Given the description of an element on the screen output the (x, y) to click on. 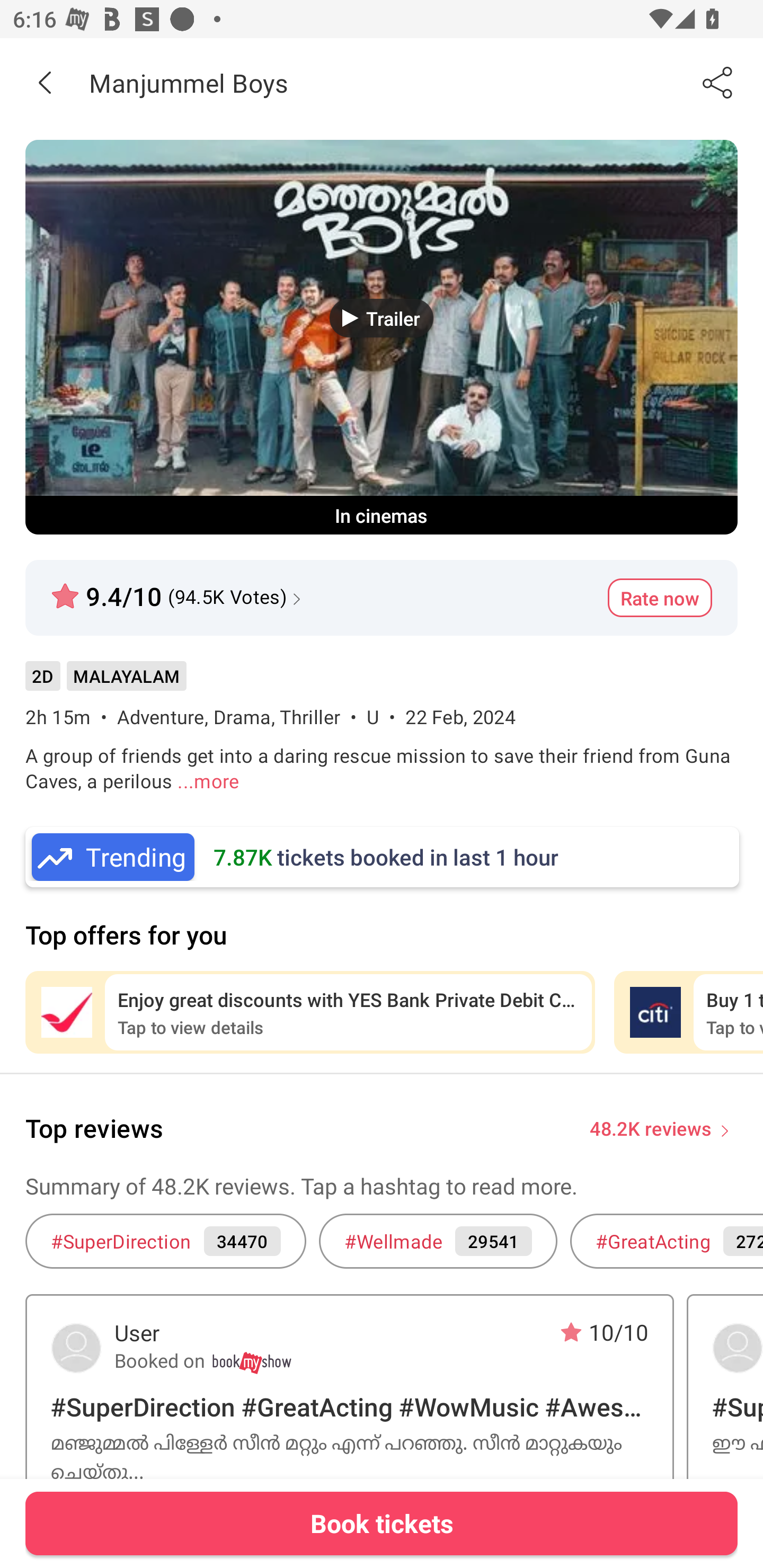
Back (44, 82)
Share (718, 82)
Movie Banner Trailer In cinemas (381, 336)
Trailer (381, 318)
9.4/10 (94.5K Votes) (178, 589)
Rate now (659, 597)
2D MALAYALAM (105, 682)
48.2K reviews (650, 1127)
#SuperDirection 34470 (165, 1240)
#Wellmade 29541 (437, 1240)
#GreatActing 27264 (666, 1240)
Book tickets (381, 1523)
